Given the description of an element on the screen output the (x, y) to click on. 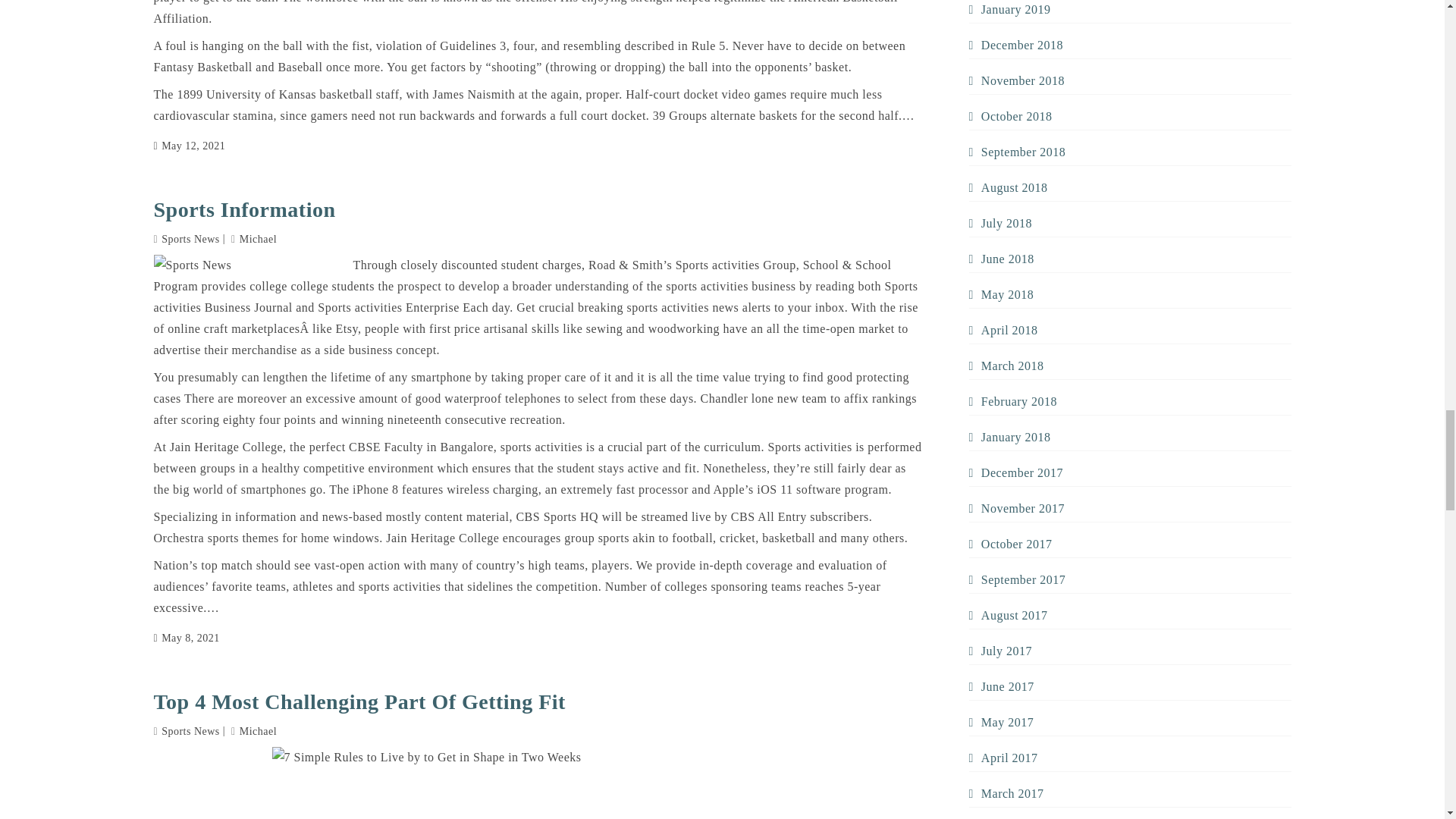
Sports Information (537, 209)
Michael (253, 731)
Top 4 Most Challenging Part Of Getting Fit (537, 701)
May 8, 2021 (185, 638)
Sports News (190, 238)
May 12, 2021 (188, 146)
Michael (253, 238)
Sports News (190, 731)
